Given the description of an element on the screen output the (x, y) to click on. 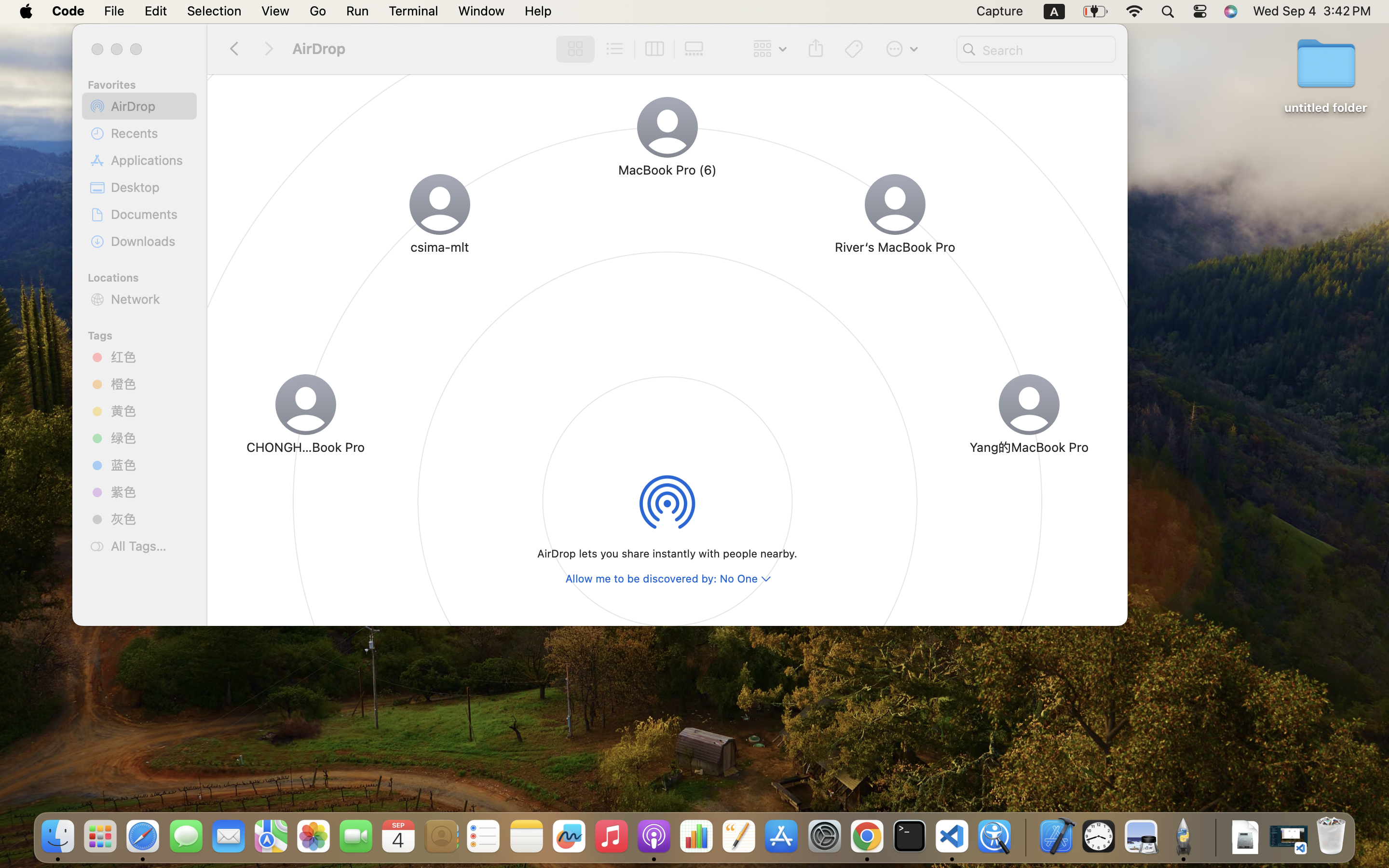
River‘s MacBook Pro Element type: AXStaticText (894, 246)
csima-mlt Element type: AXStaticText (439, 246)
Downloads Element type: AXStaticText (149, 240)
MacBook Pro (6) Element type: AXStaticText (667, 169)
<AXUIElement 0x13a31d090> {pid=510} Element type: AXRadioGroup (633, 48)
